Given the description of an element on the screen output the (x, y) to click on. 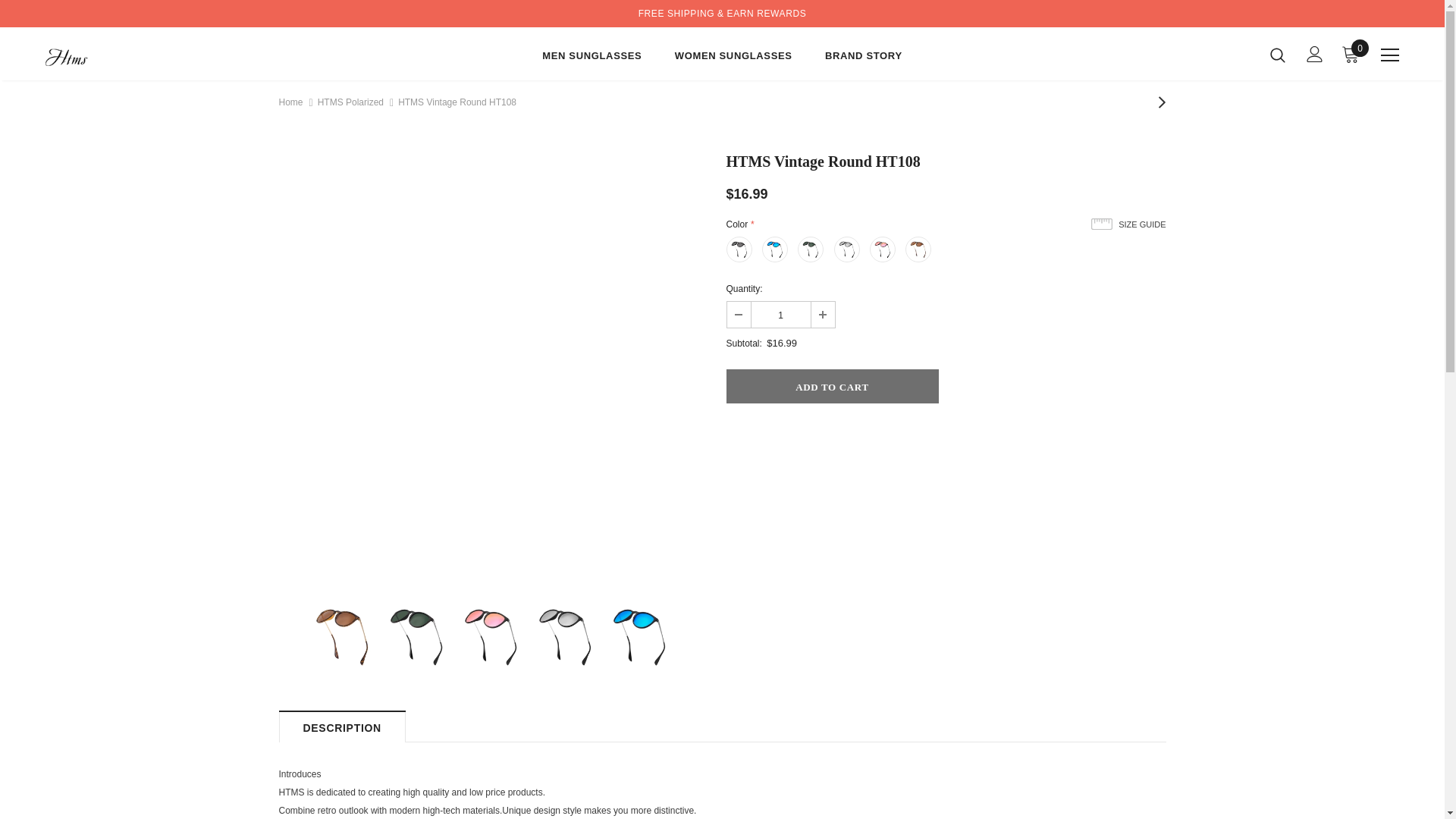
Logo (134, 53)
BRAND STORY (863, 58)
Search Icon (1277, 54)
MEN SUNGLASSES (591, 58)
Add to Cart (832, 386)
1 (780, 314)
0 (1349, 54)
WOMEN SUNGLASSES (733, 58)
